Given the description of an element on the screen output the (x, y) to click on. 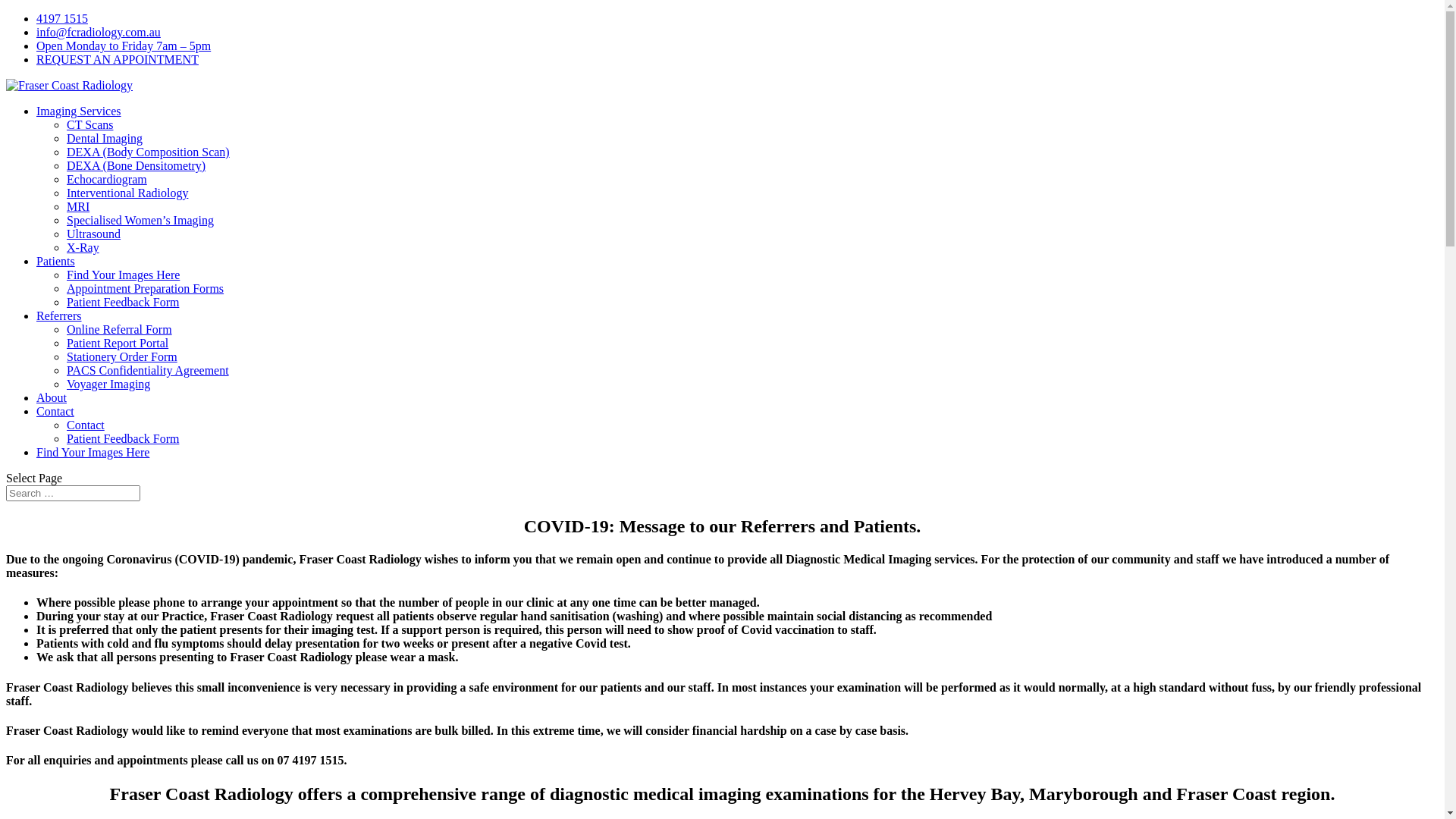
Ultrasound Element type: text (93, 233)
PACS Confidentiality Agreement Element type: text (147, 370)
Referrers Element type: text (58, 315)
Contact Element type: text (85, 424)
Dental Imaging Element type: text (104, 137)
Find Your Images Here Element type: text (122, 274)
Stationery Order Form Element type: text (121, 356)
DEXA (Body Composition Scan) Element type: text (147, 151)
Patient Feedback Form Element type: text (122, 301)
Patient Report Portal Element type: text (117, 342)
Interventional Radiology Element type: text (127, 192)
X-Ray Element type: text (82, 247)
Patients Element type: text (55, 260)
Imaging Services Element type: text (78, 110)
About Element type: text (51, 397)
Echocardiogram Element type: text (106, 178)
Appointment Preparation Forms Element type: text (144, 288)
info@fcradiology.com.au Element type: text (98, 31)
CT Scans Element type: text (89, 124)
MRI Element type: text (77, 206)
REQUEST AN APPOINTMENT Element type: text (117, 59)
Find Your Images Here Element type: text (92, 451)
DEXA (Bone Densitometry) Element type: text (135, 165)
Search for: Element type: hover (73, 493)
Patient Feedback Form Element type: text (122, 438)
Online Referral Form Element type: text (119, 329)
4197 1515 Element type: text (61, 18)
Contact Element type: text (55, 410)
Voyager Imaging Element type: text (108, 383)
